Given the description of an element on the screen output the (x, y) to click on. 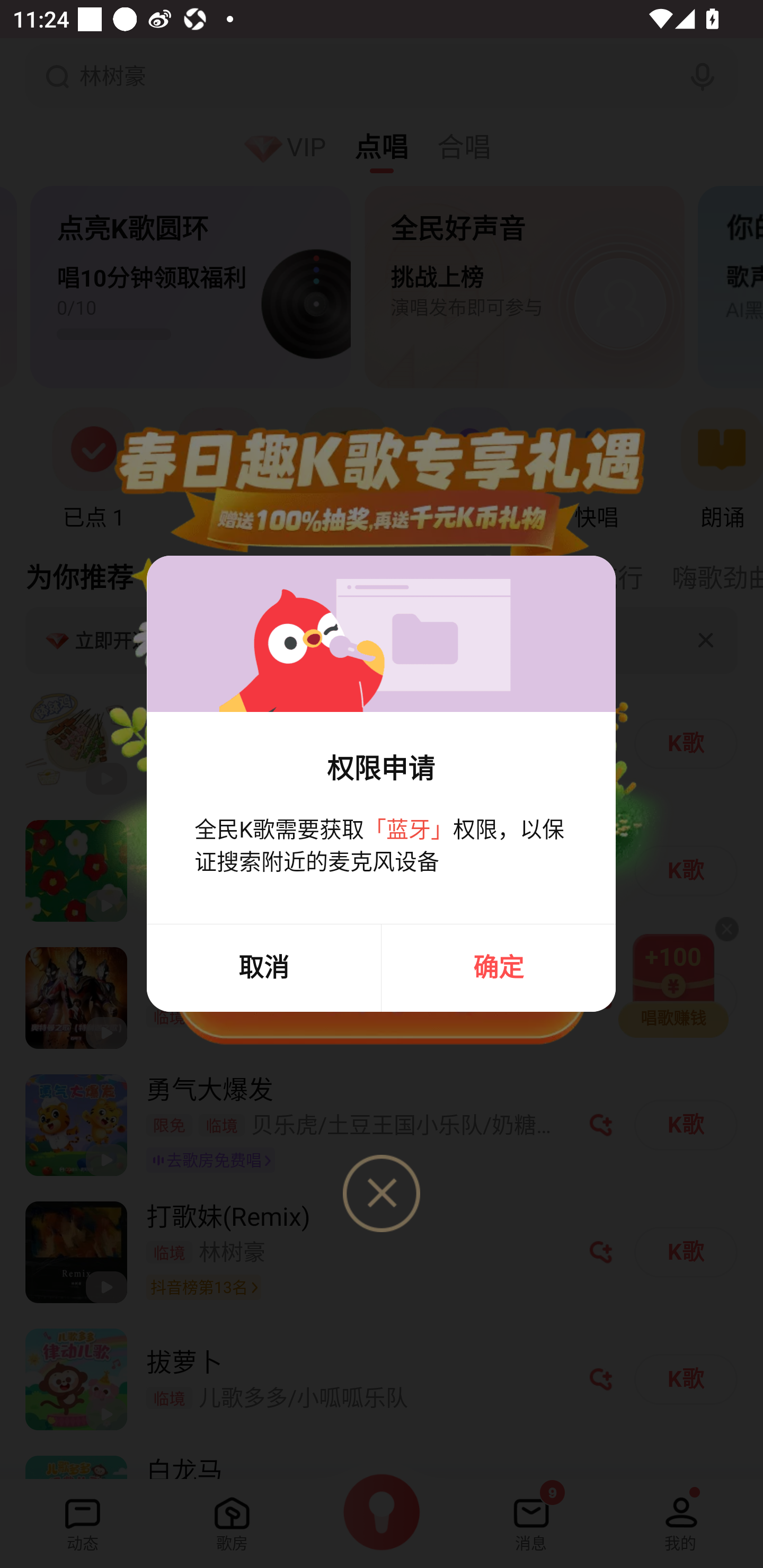
取消 (263, 968)
确定 (498, 968)
